Given the description of an element on the screen output the (x, y) to click on. 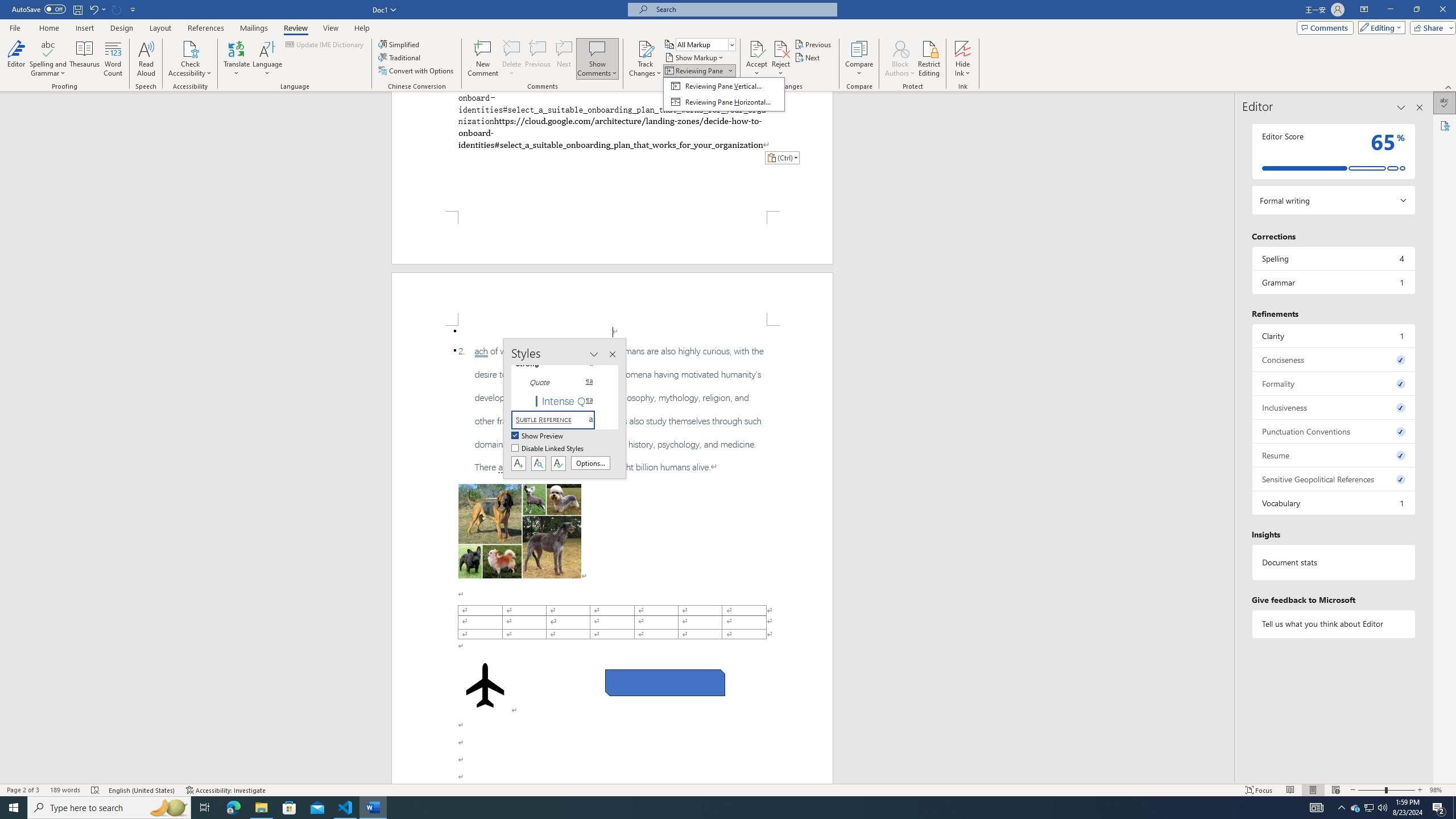
Previous (813, 44)
Traditional (400, 56)
Action: Paste alternatives (781, 157)
Translate (236, 58)
Block Authors (900, 48)
Show Markup (695, 56)
Show Comments (597, 58)
